Given the description of an element on the screen output the (x, y) to click on. 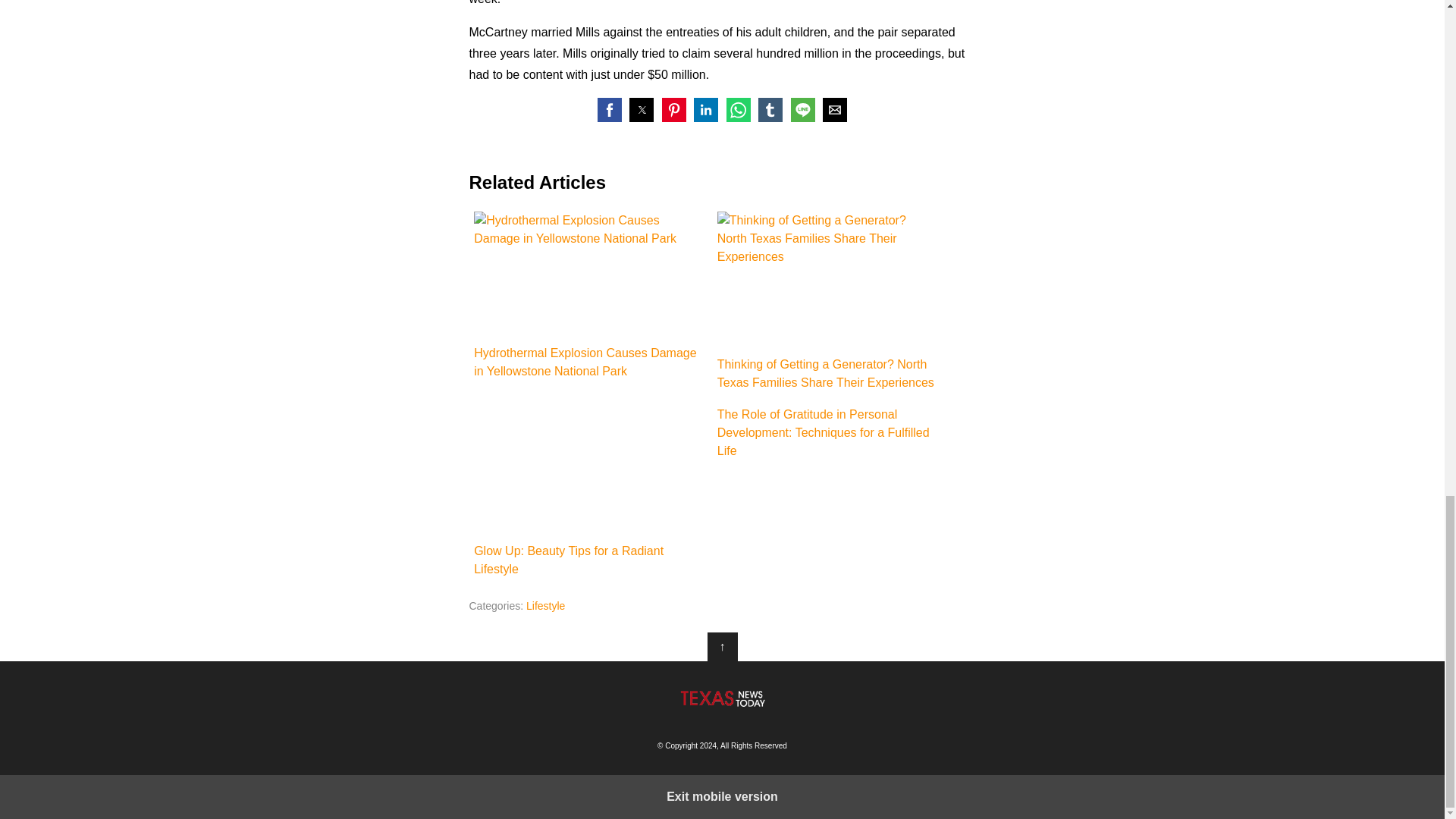
Glow Up: Beauty Tips for a Radiant Lifestyle (590, 491)
Texasnewstoday.com (721, 698)
Lifestyle (544, 605)
Glow Up: Beauty Tips for a Radiant Lifestyle (590, 471)
